Given the description of an element on the screen output the (x, y) to click on. 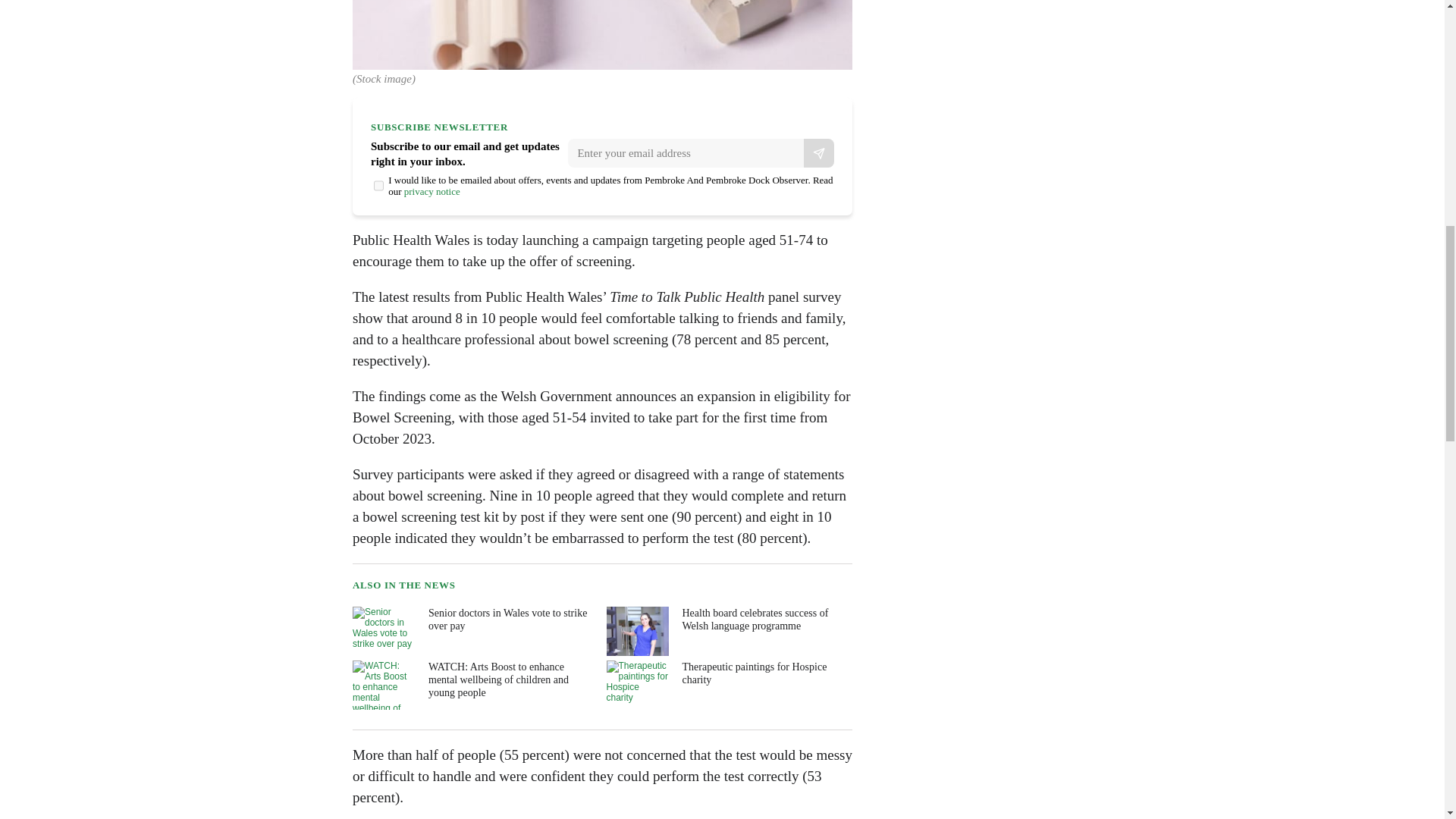
Senior doctors in Wales vote to strike over pay (473, 631)
privacy notice (432, 191)
Health board celebrates success of Welsh language programme (727, 631)
Therapeutic paintings for Hospice charity (727, 685)
